Given the description of an element on the screen output the (x, y) to click on. 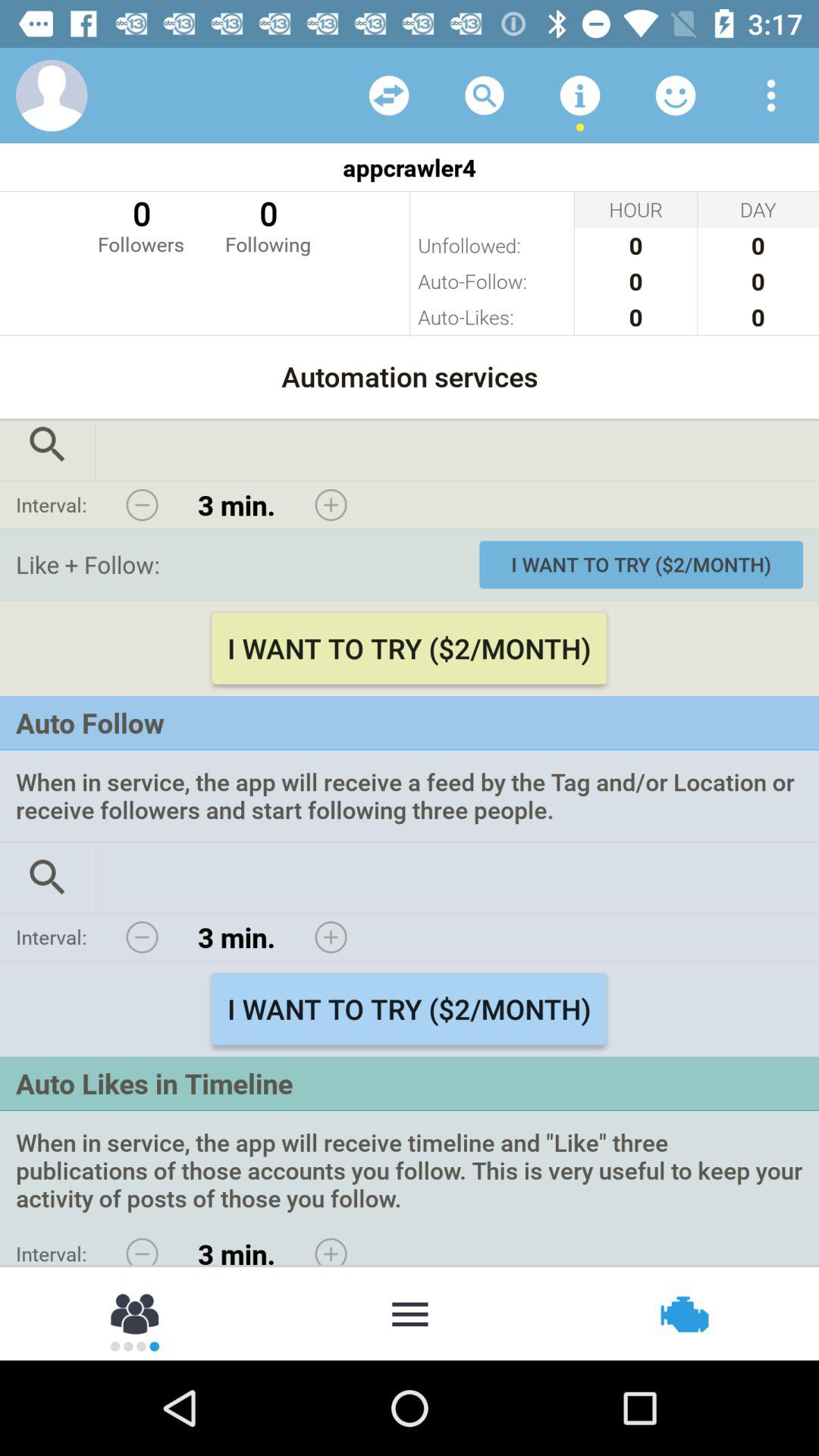
open menu/settings (771, 95)
